Given the description of an element on the screen output the (x, y) to click on. 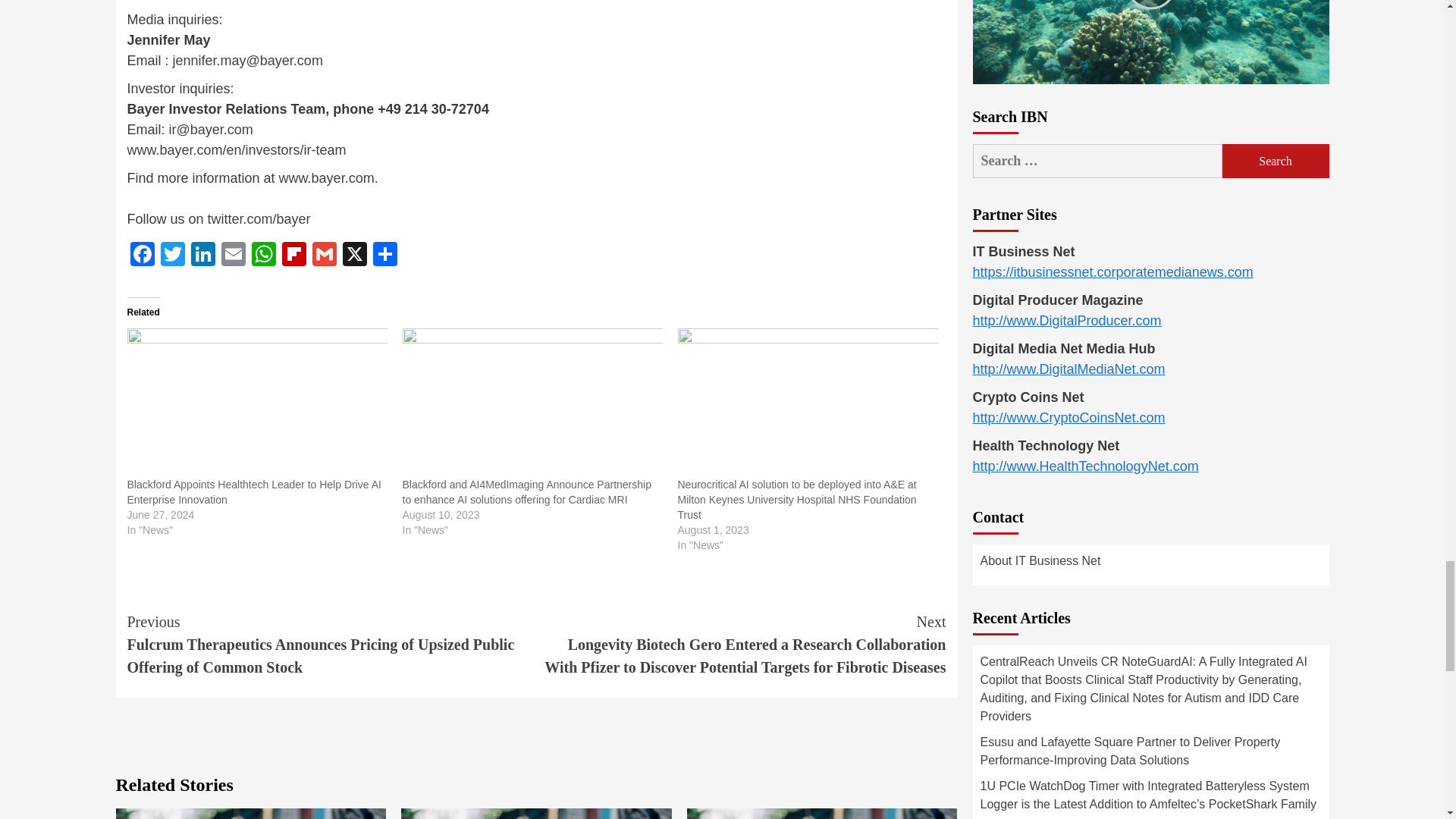
LinkedIn (202, 255)
www.bayer.com (326, 177)
Email (233, 255)
Email (233, 255)
WhatsApp (263, 255)
Twitter (172, 255)
Facebook (142, 255)
Twitter (172, 255)
WhatsApp (263, 255)
LinkedIn (202, 255)
Facebook (142, 255)
